Given the description of an element on the screen output the (x, y) to click on. 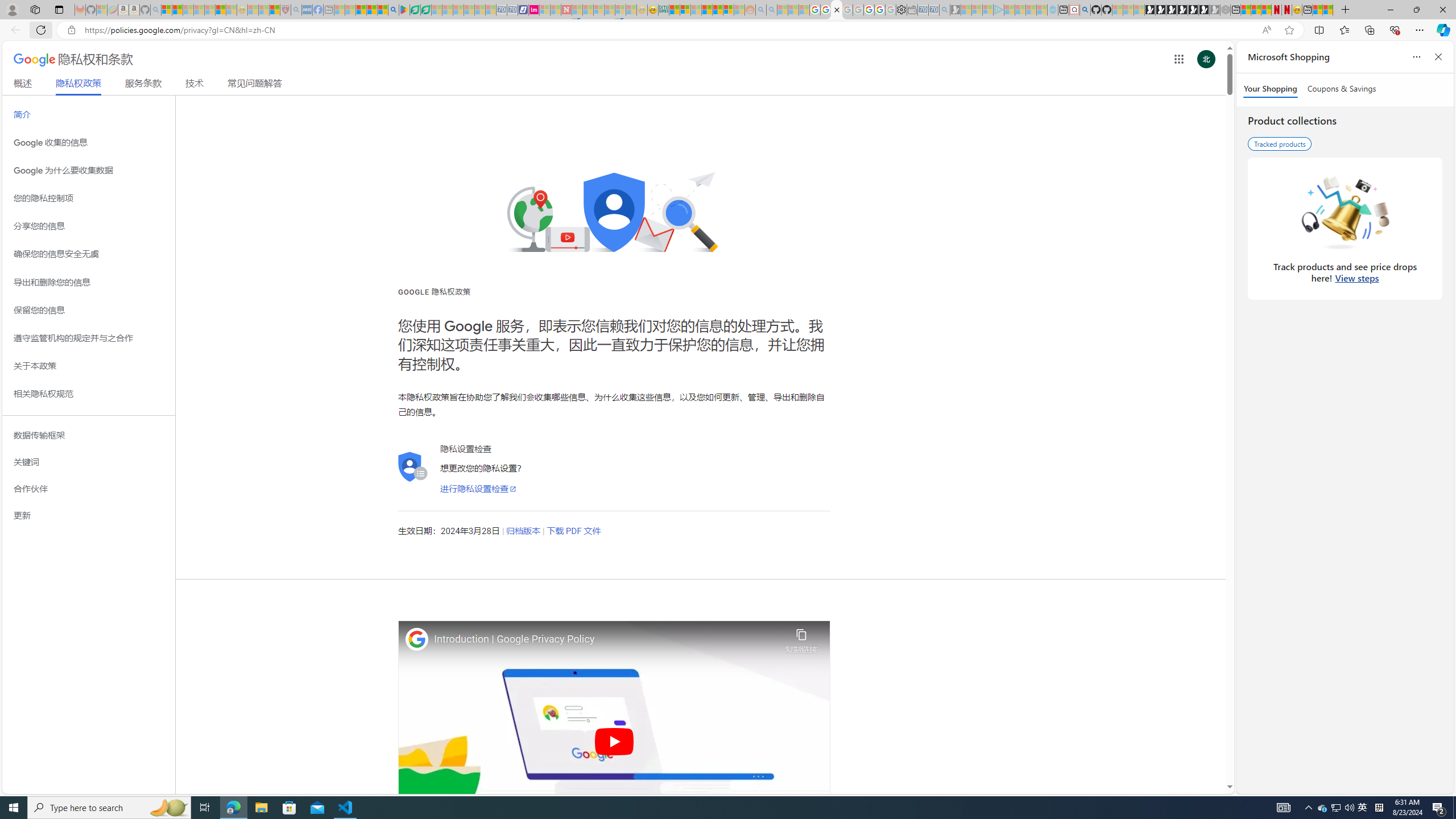
Pets - MSN (371, 9)
Class: gb_E (1178, 59)
Microsoft Word - consumer-privacy address update 2.2021 (426, 9)
